Given the description of an element on the screen output the (x, y) to click on. 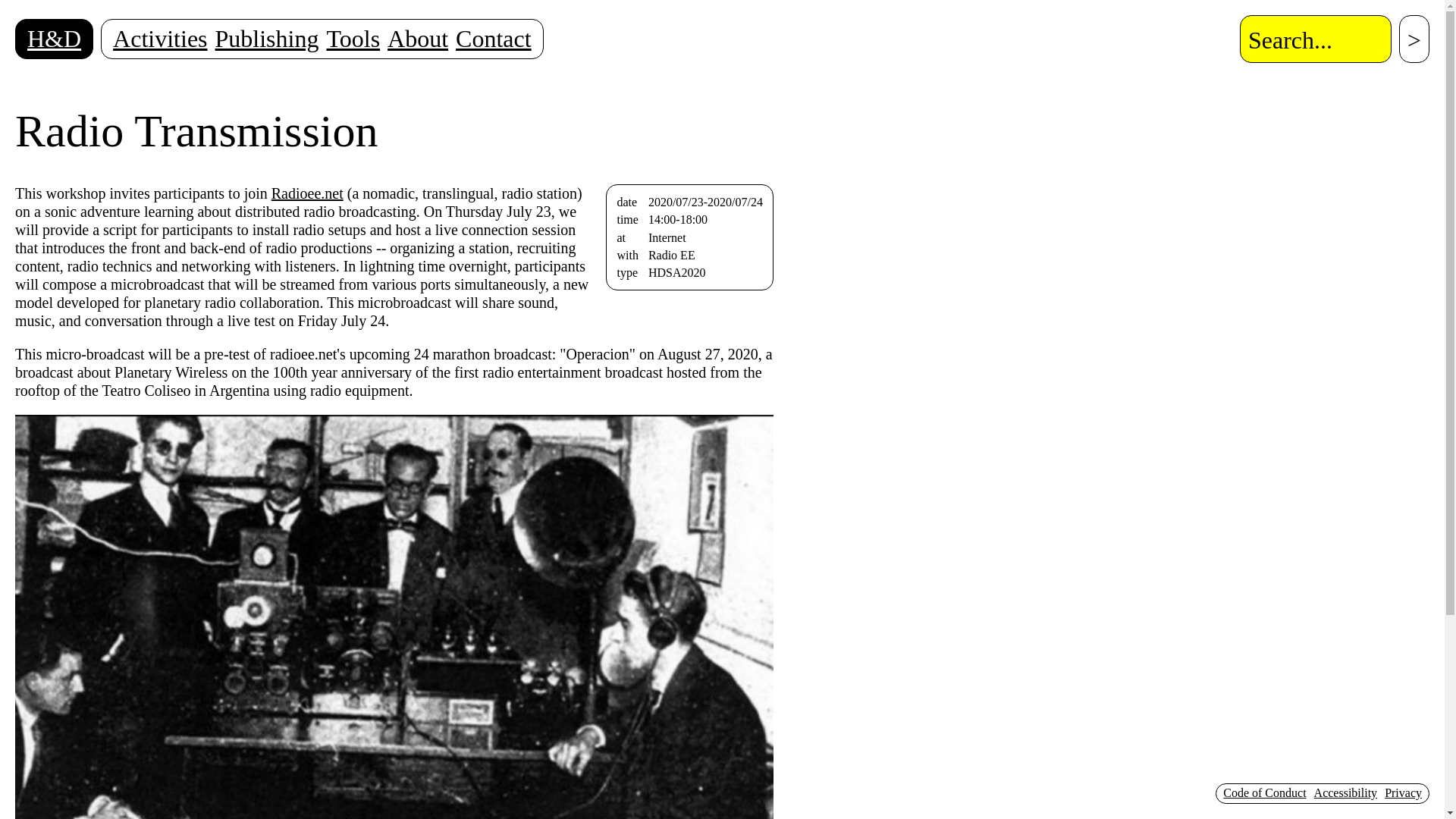
About (417, 38)
Activities (160, 38)
Code of Conduct (1264, 792)
Radioee.net (306, 193)
Activities (160, 38)
Code of Conduct (1264, 792)
Privacy (1402, 792)
Contact (493, 38)
Publishing (267, 38)
About (417, 38)
